Given the description of an element on the screen output the (x, y) to click on. 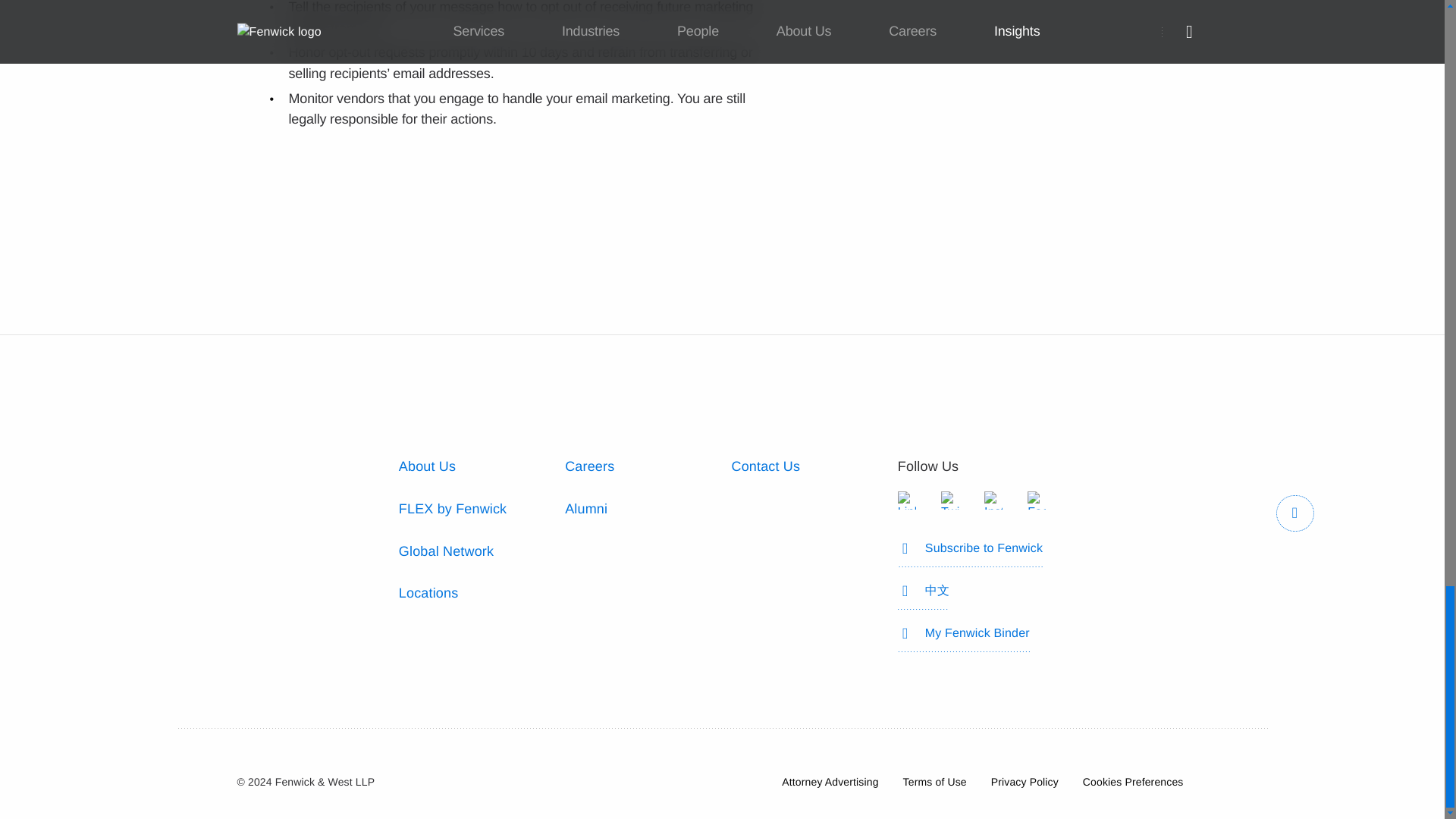
Locations (428, 592)
Contact Us (764, 466)
About Us (426, 466)
FLEX by Fenwick (452, 508)
Alumni (585, 508)
Global Network (445, 550)
Careers (589, 466)
